Given the description of an element on the screen output the (x, y) to click on. 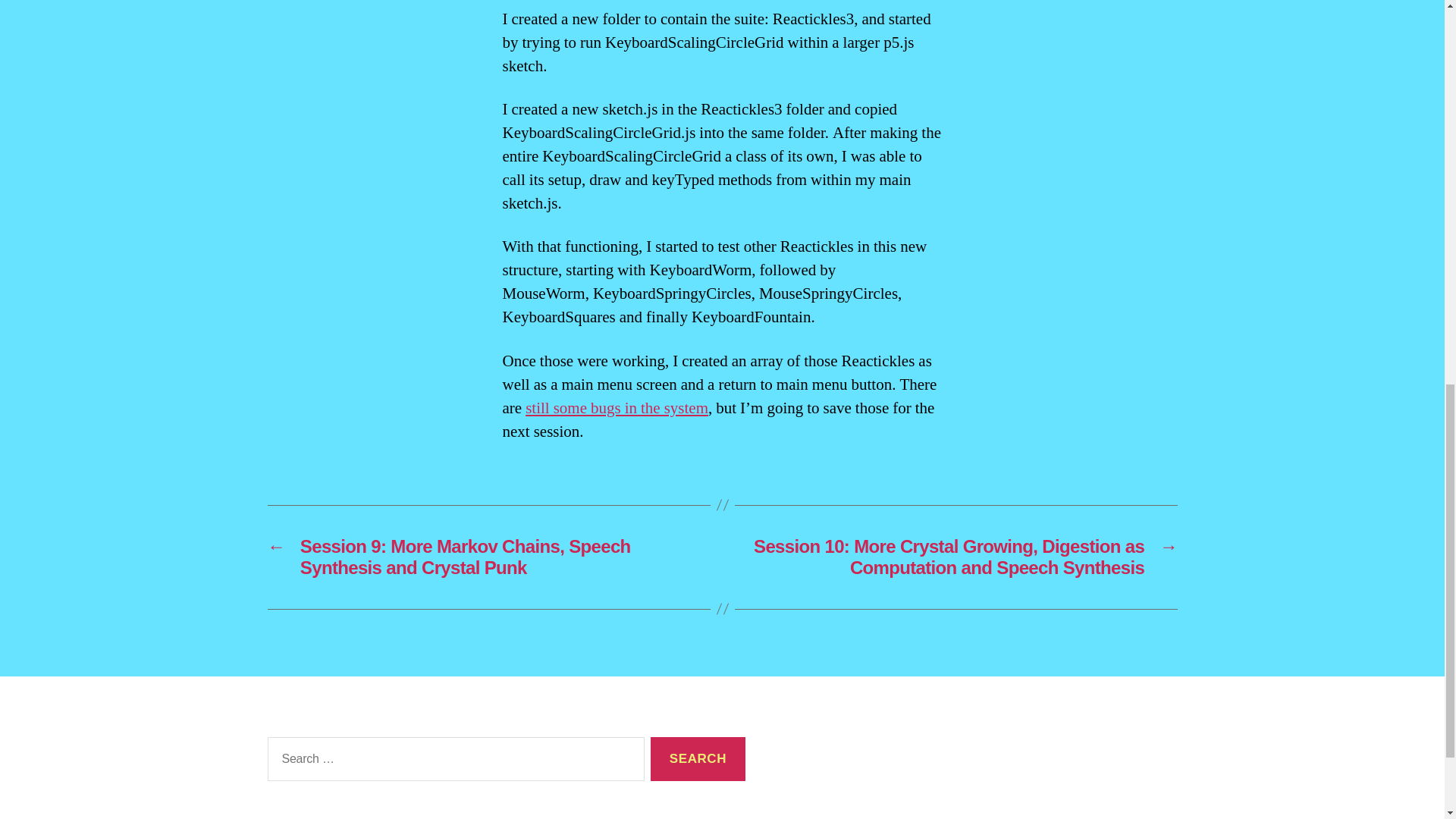
Search (697, 759)
Search (697, 759)
still some bugs in the system (616, 408)
Search (697, 759)
